Given the description of an element on the screen output the (x, y) to click on. 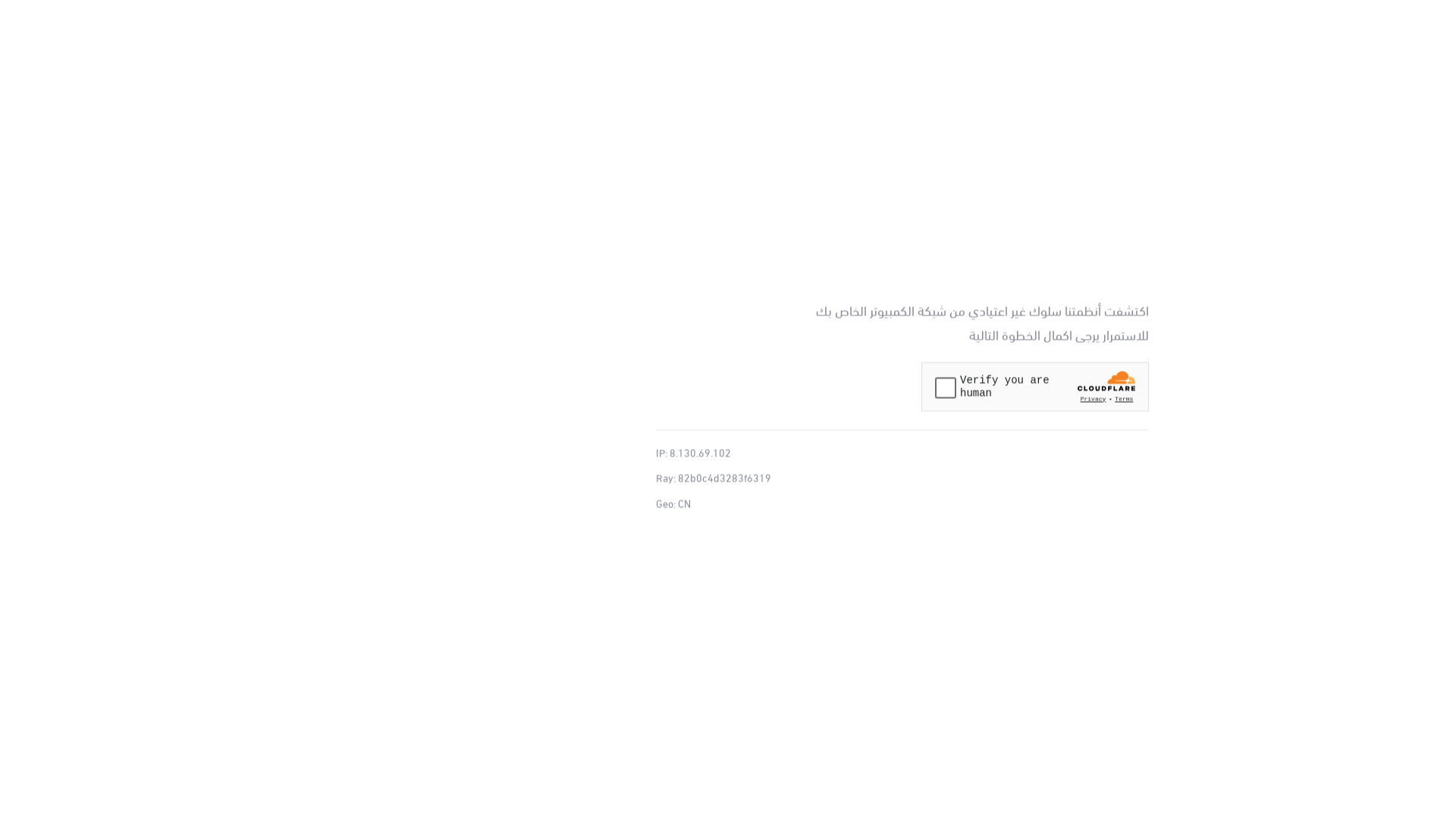
Widget containing a Cloudflare security challenge Element type: hover (1034, 386)
